Given the description of an element on the screen output the (x, y) to click on. 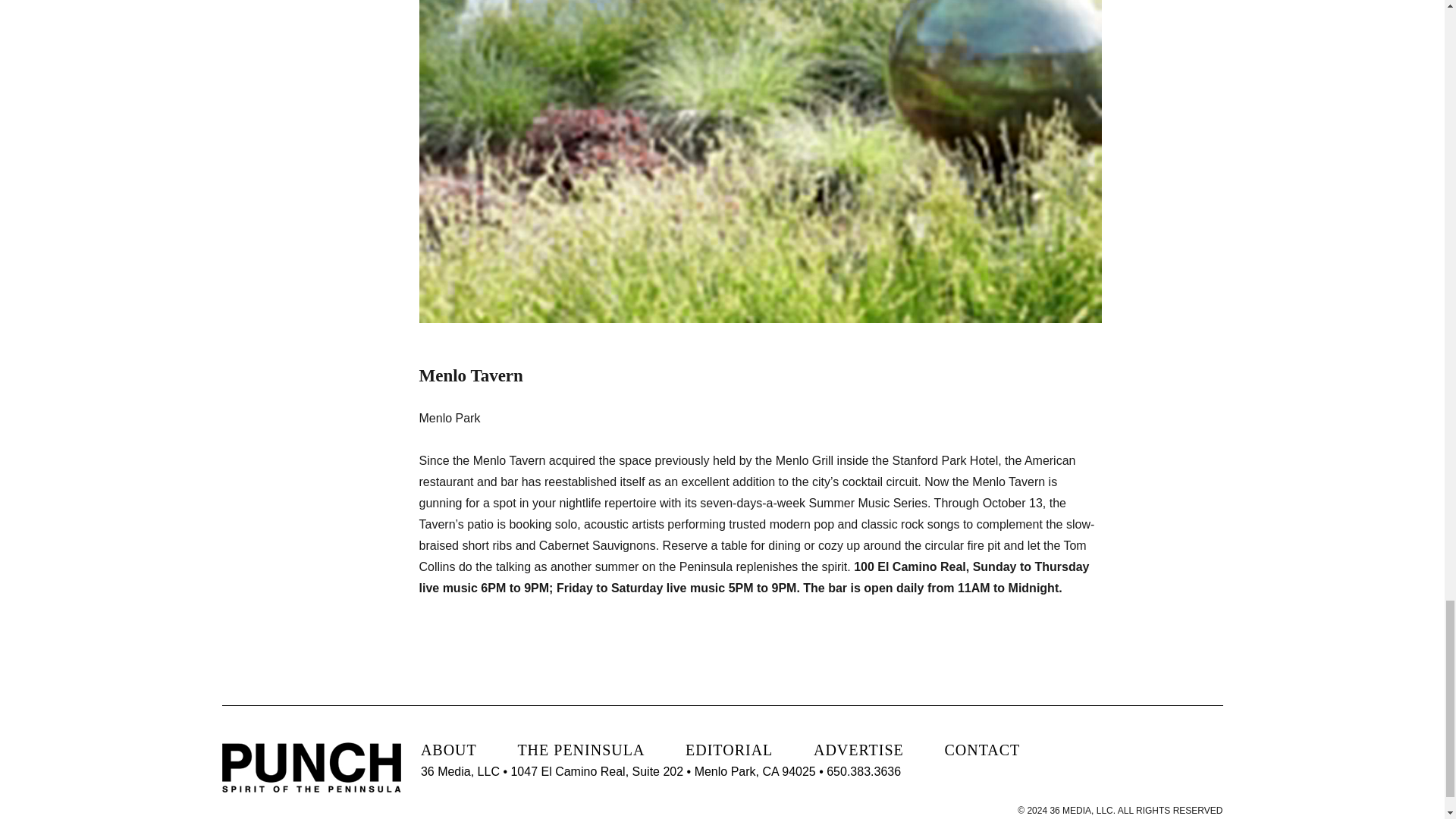
EDITORIAL (729, 750)
ADVERTISE (858, 750)
CONTACT (981, 750)
ABOUT (448, 750)
THE PENINSULA (580, 750)
